Given the description of an element on the screen output the (x, y) to click on. 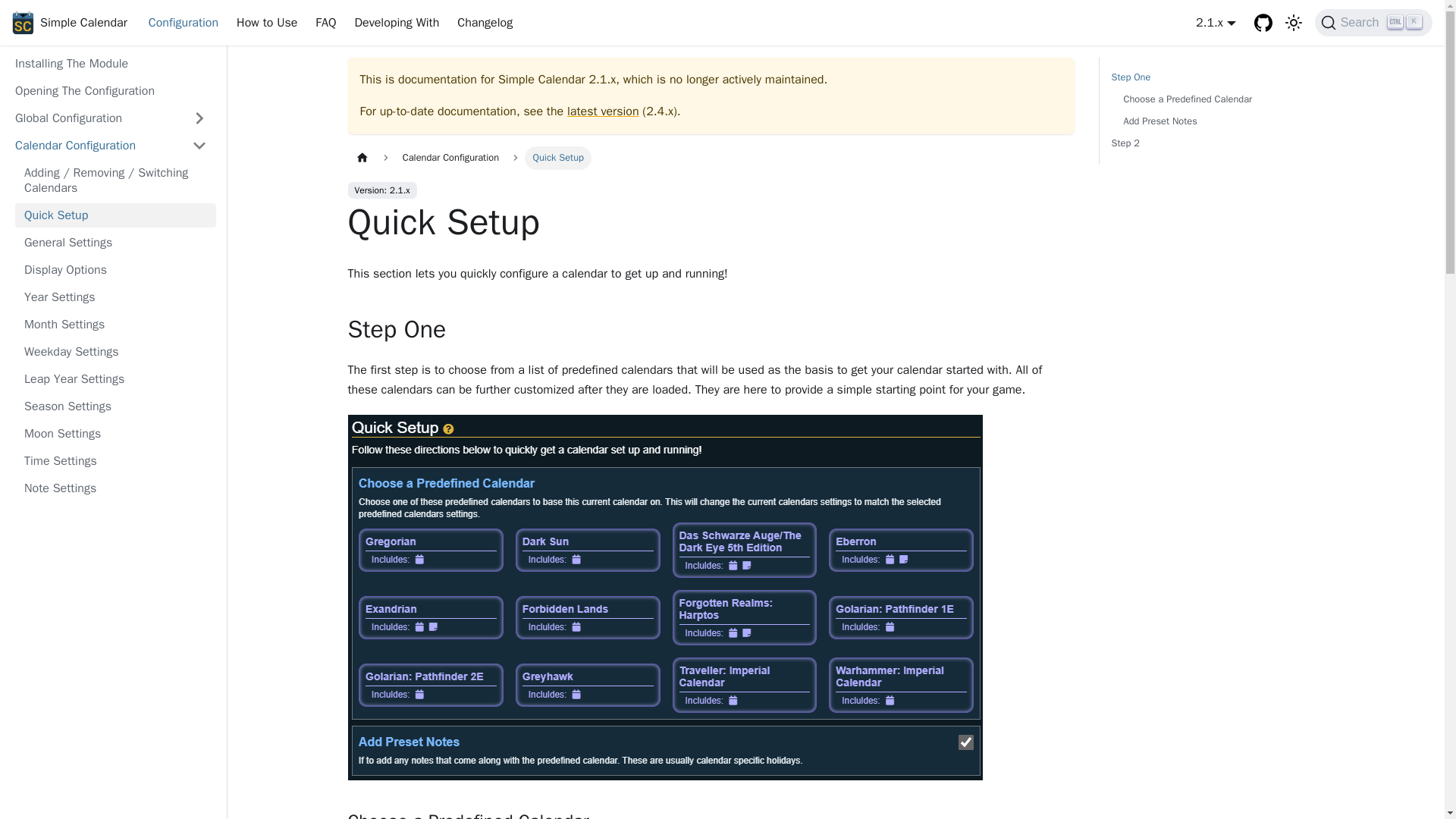
Configuration (183, 22)
Simple Calendar (69, 22)
General Settings (114, 242)
FAQ (325, 22)
Time Settings (114, 460)
Leap Year Settings (114, 378)
Installing The Module (110, 63)
Year Settings (114, 297)
Note Settings (1373, 22)
Month Settings (114, 487)
Opening The Configuration (114, 324)
Quick Setup (110, 90)
Changelog (114, 215)
